Given the description of an element on the screen output the (x, y) to click on. 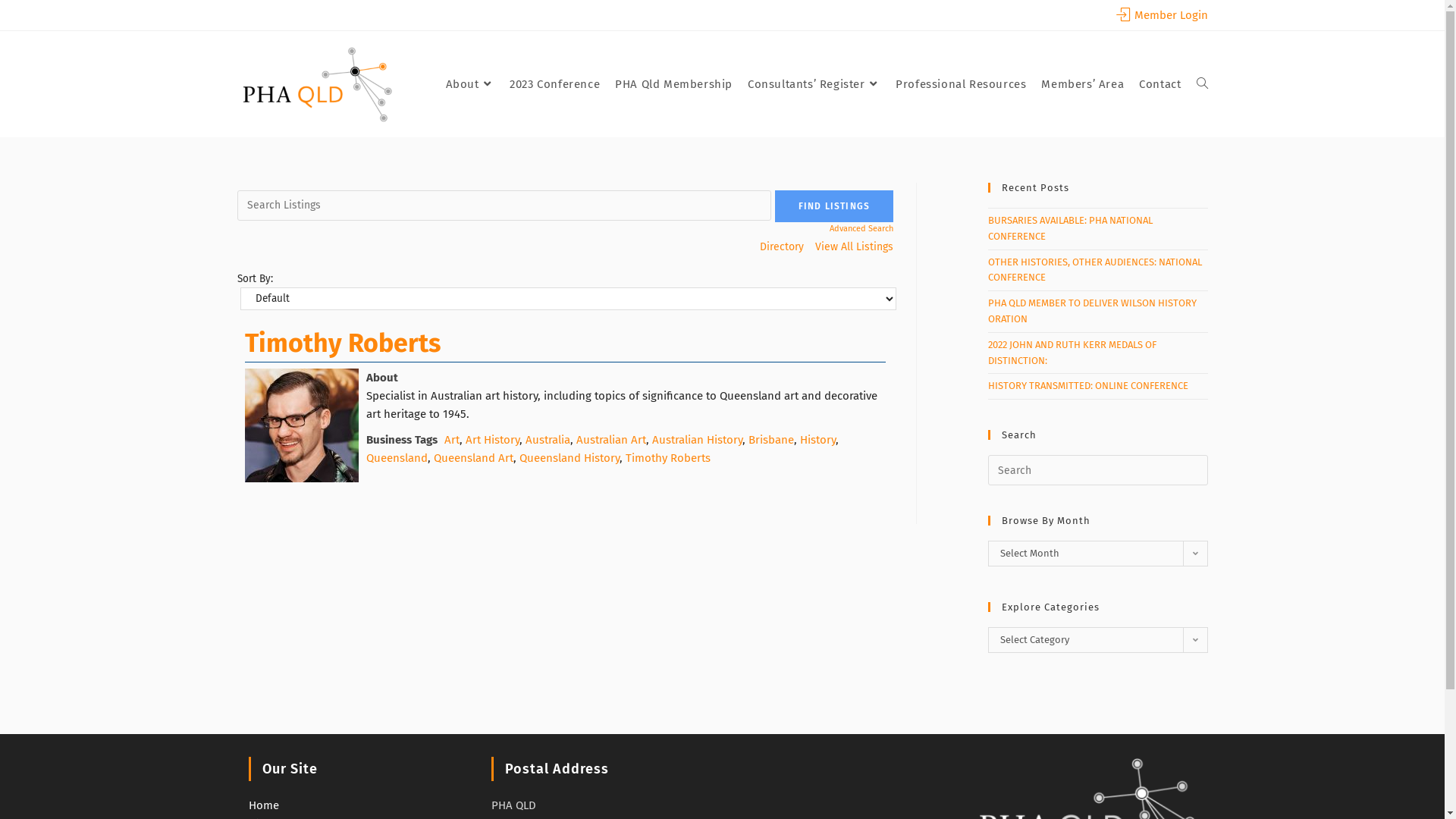
PHA QLD MEMBER TO DELIVER WILSON HISTORY ORATION Element type: text (1091, 310)
Quick search keywords Element type: hover (503, 205)
2023 Conference Element type: text (554, 84)
History Element type: text (816, 439)
OTHER HISTORIES, OTHER AUDIENCES: NATIONAL CONFERENCE Element type: text (1094, 269)
Home Element type: text (263, 805)
HISTORY TRANSMITTED: ONLINE CONFERENCE Element type: text (1087, 385)
Queensland Art Element type: text (473, 457)
Directory Element type: text (781, 246)
Contact Element type: text (1159, 84)
View All Listings Element type: text (853, 246)
Queensland History Element type: text (568, 457)
Find Listings Element type: text (833, 206)
Timothy Roberts Element type: hover (300, 425)
Timothy Roberts Element type: text (666, 457)
Brisbane Element type: text (770, 439)
Australia Element type: text (546, 439)
About Element type: text (470, 84)
Australian Art Element type: text (611, 439)
Queensland Element type: text (395, 457)
Australian History Element type: text (697, 439)
BURSARIES AVAILABLE: PHA NATIONAL CONFERENCE Element type: text (1069, 227)
2022 JOHN AND RUTH KERR MEDALS OF DISTINCTION: Element type: text (1071, 352)
Timothy Roberts Element type: text (341, 342)
Advanced Search Element type: text (833, 228)
Art History Element type: text (492, 439)
Toggle Website Search Element type: text (1202, 84)
Art Element type: text (451, 439)
PHA Qld Membership Element type: text (673, 84)
Professional Resources Element type: text (960, 84)
Member Login Element type: text (1162, 15)
